Given the description of an element on the screen output the (x, y) to click on. 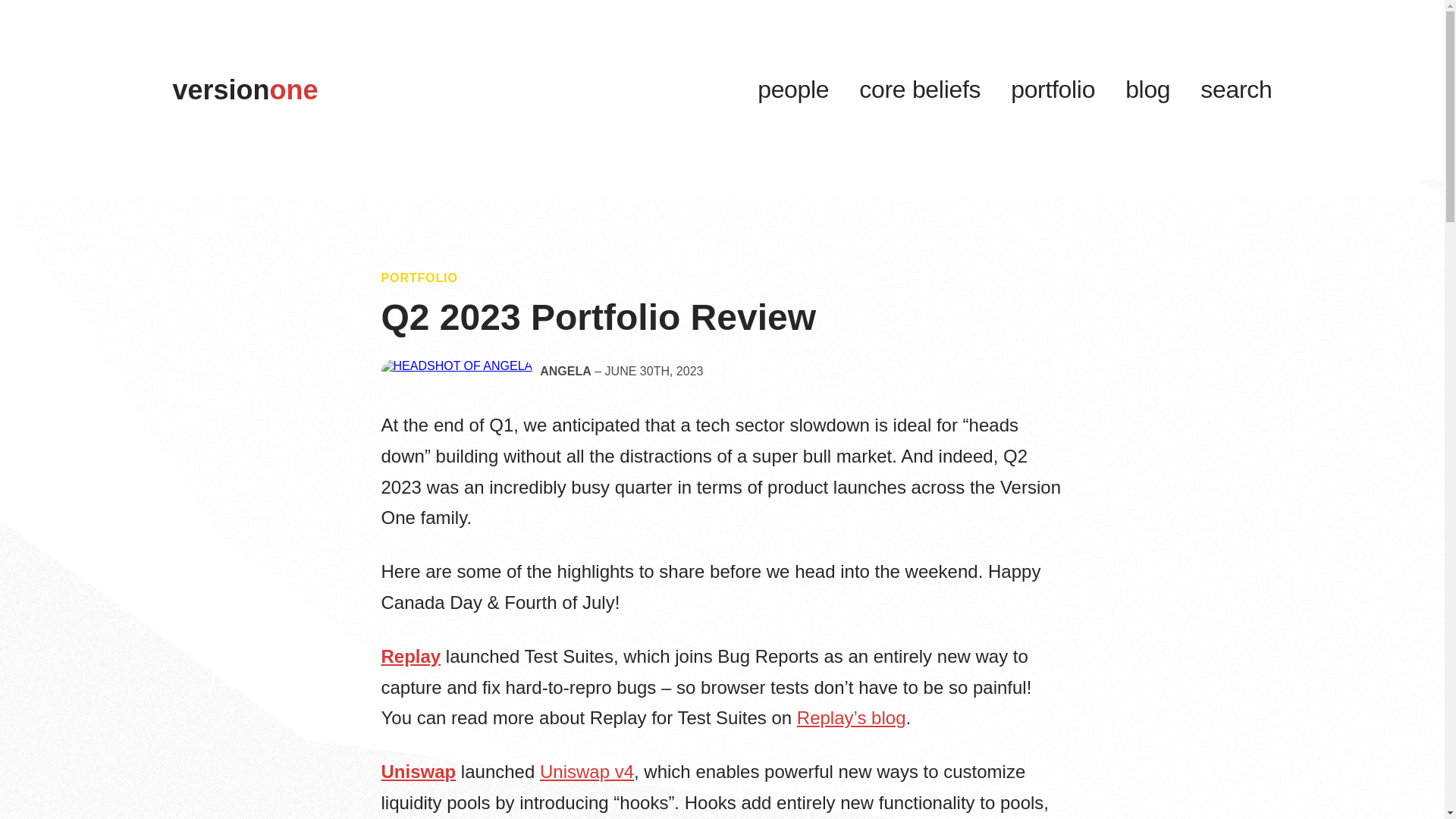
blog (1147, 89)
people (792, 89)
search (1235, 89)
portfolio (1052, 89)
Uniswap v4 (586, 771)
core beliefs (919, 89)
version one (245, 89)
Uniswap (417, 771)
ANGELA (565, 371)
Headshot of Angela (456, 371)
